Given the description of an element on the screen output the (x, y) to click on. 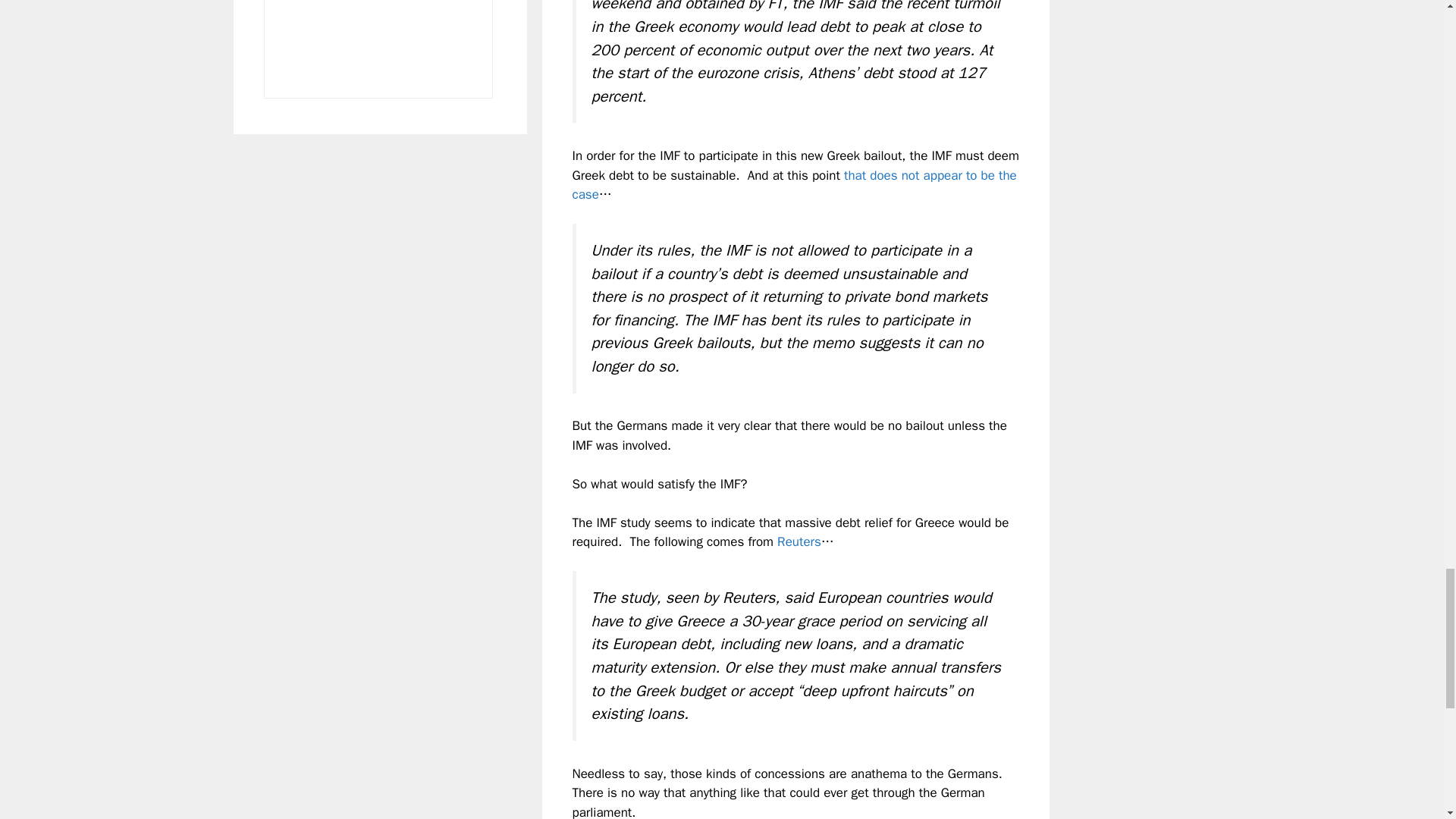
Reuters (799, 541)
that does not appear to be the case (794, 185)
